Given the description of an element on the screen output the (x, y) to click on. 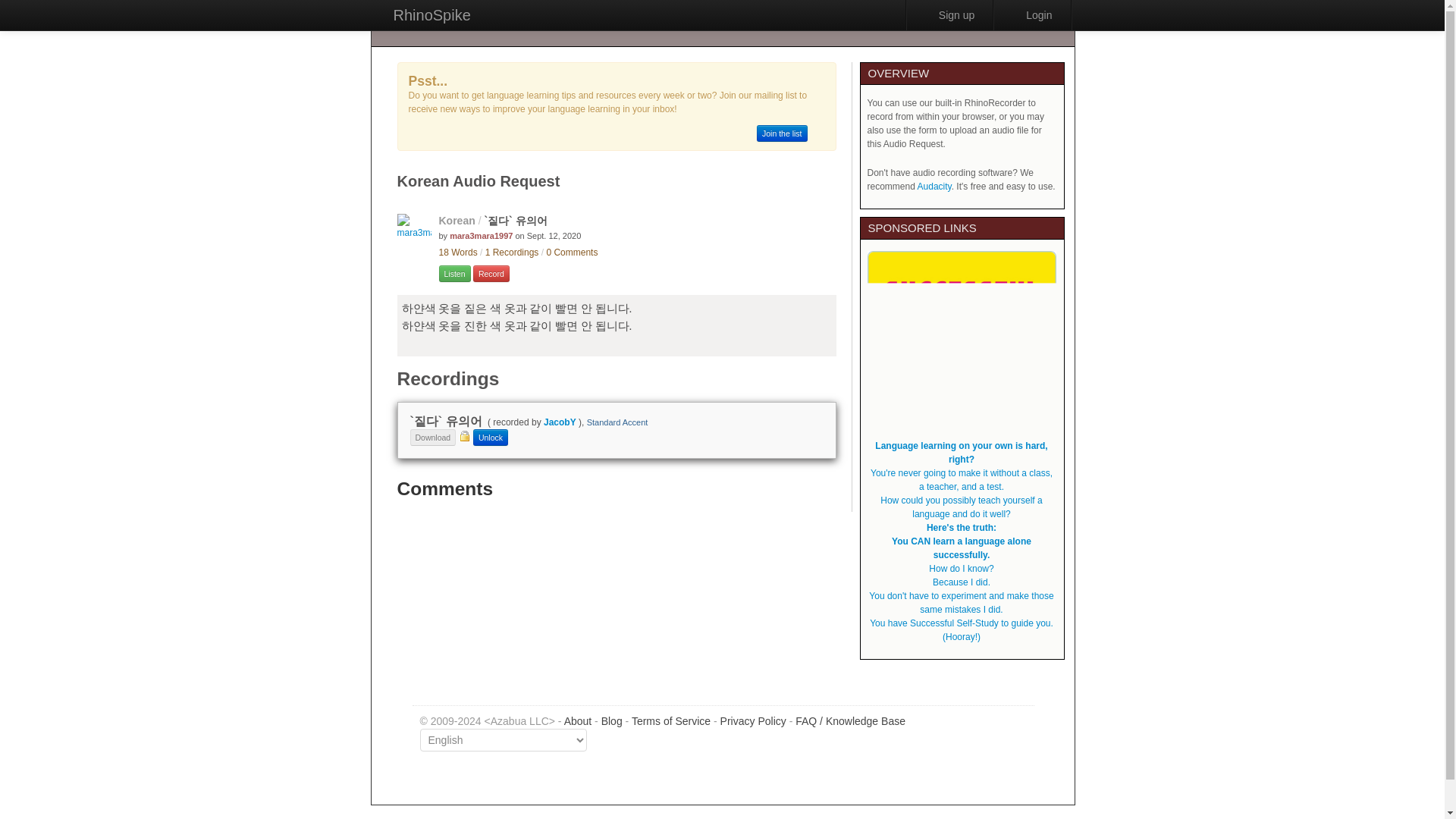
Record (491, 273)
JacobY (559, 421)
Sign up (949, 15)
Login (1031, 15)
Join the list (782, 133)
Korean (456, 220)
Listen (454, 273)
Terms of Service (670, 720)
Unlock (490, 437)
Privacy Policy (753, 720)
Blog (612, 720)
RhinoSpike (430, 15)
mara3mara1997 (480, 235)
About (578, 720)
Download (432, 437)
